Given the description of an element on the screen output the (x, y) to click on. 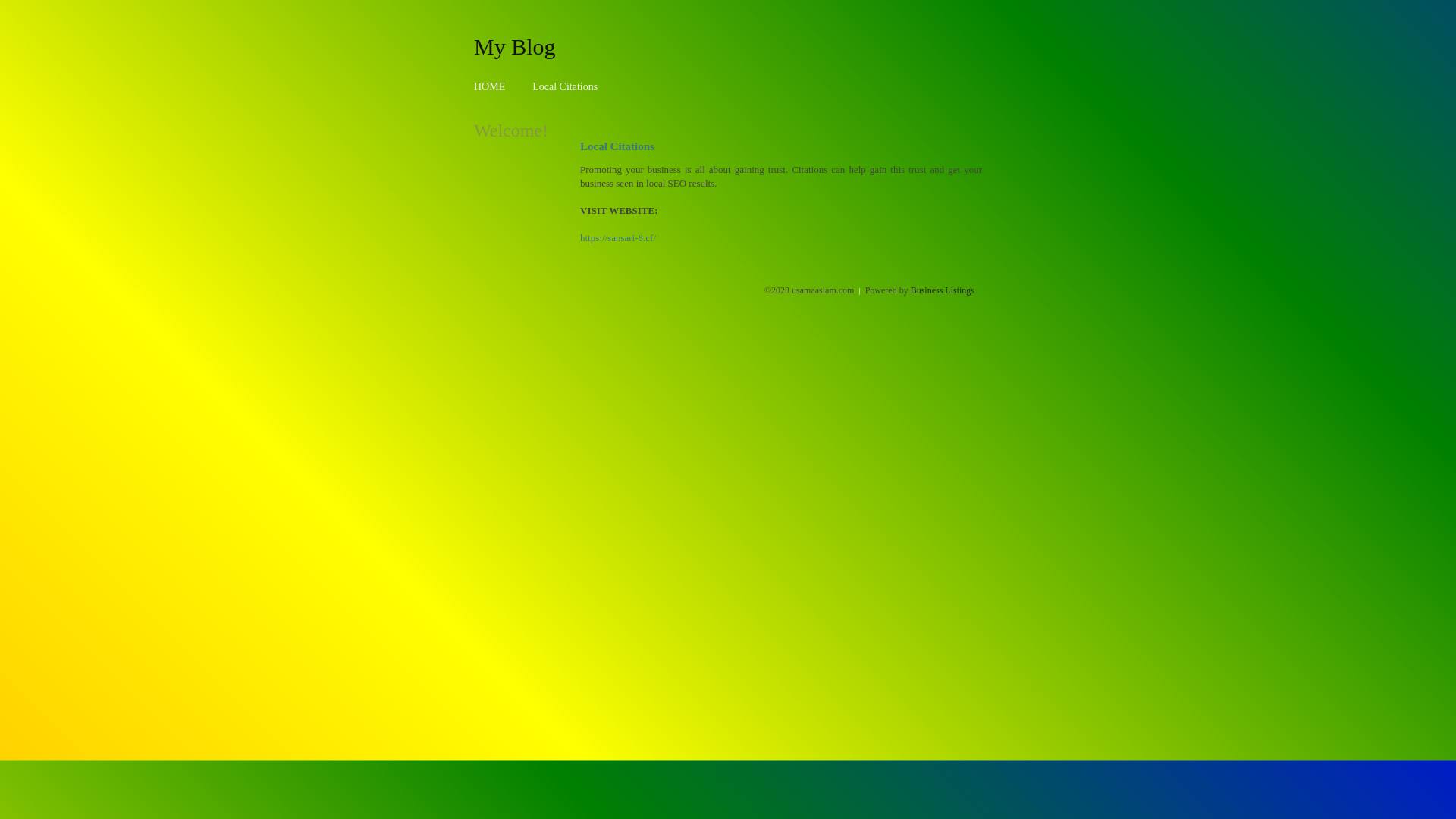
My Blog Element type: text (514, 46)
Business Listings Element type: text (942, 290)
https://sansari-8.cf/ Element type: text (617, 237)
Local Citations Element type: text (564, 86)
HOME Element type: text (489, 86)
